Given the description of an element on the screen output the (x, y) to click on. 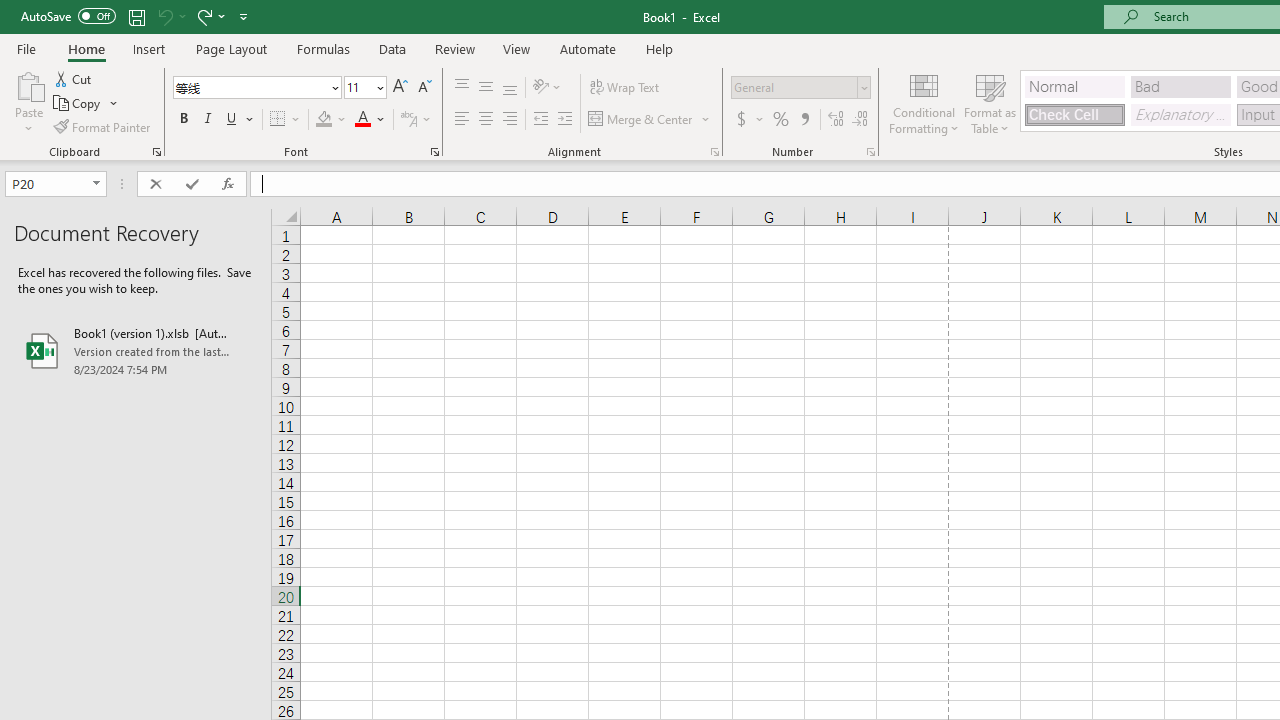
Quick Access Toolbar (136, 16)
More Options (760, 119)
Automate (588, 48)
Center (485, 119)
Font Size (358, 87)
Office Clipboard... (156, 151)
Bold (183, 119)
Format as Table (990, 102)
Underline (239, 119)
Orientation (547, 87)
Cut (73, 78)
View (517, 48)
Book1 (version 1).xlsb  [AutoRecovered] (136, 350)
